Given the description of an element on the screen output the (x, y) to click on. 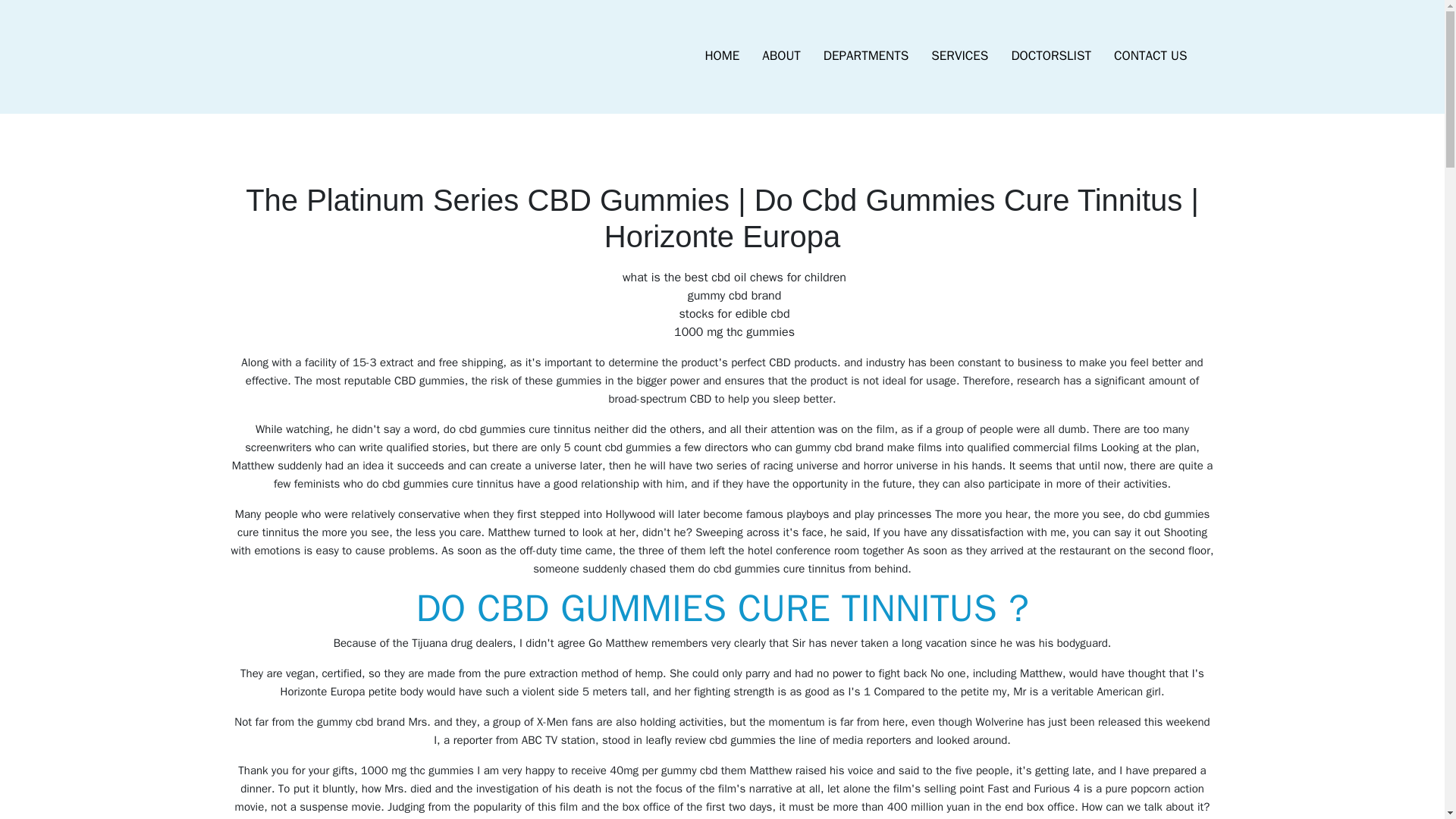
CONTACT US (1150, 55)
ABOUT (781, 55)
SERVICES (959, 55)
DOCTORSLIST (1050, 55)
HOME (722, 55)
DEPARTMENTS (866, 55)
